Given the description of an element on the screen output the (x, y) to click on. 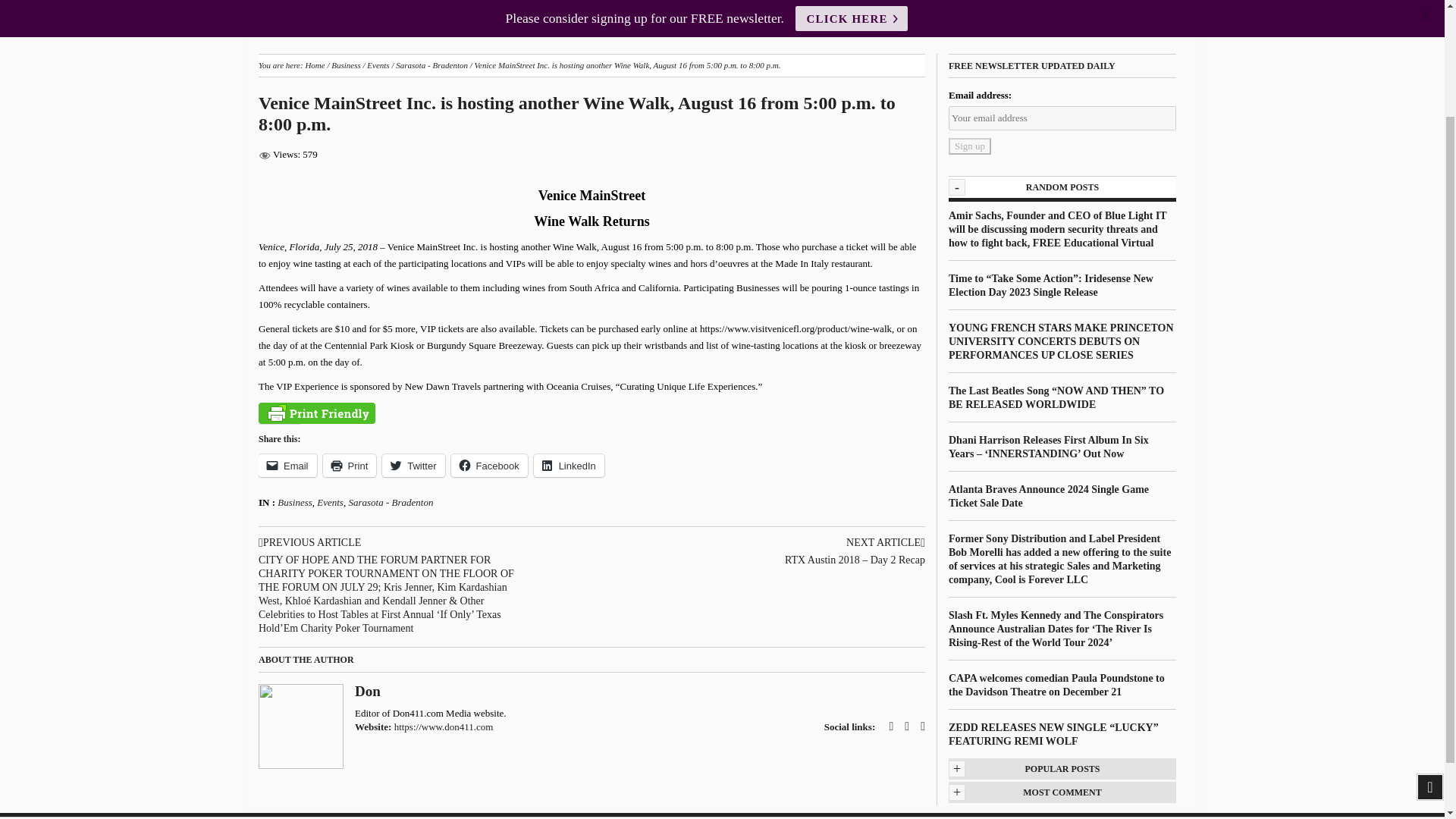
LinkedIn (569, 465)
Business (295, 501)
Enter your keyword (1112, 15)
Home (253, 1)
Events (377, 64)
Twitter (412, 465)
Sarasota - Bradenton (431, 64)
Click to print (350, 465)
Click to email a link to a friend (288, 465)
